Given the description of an element on the screen output the (x, y) to click on. 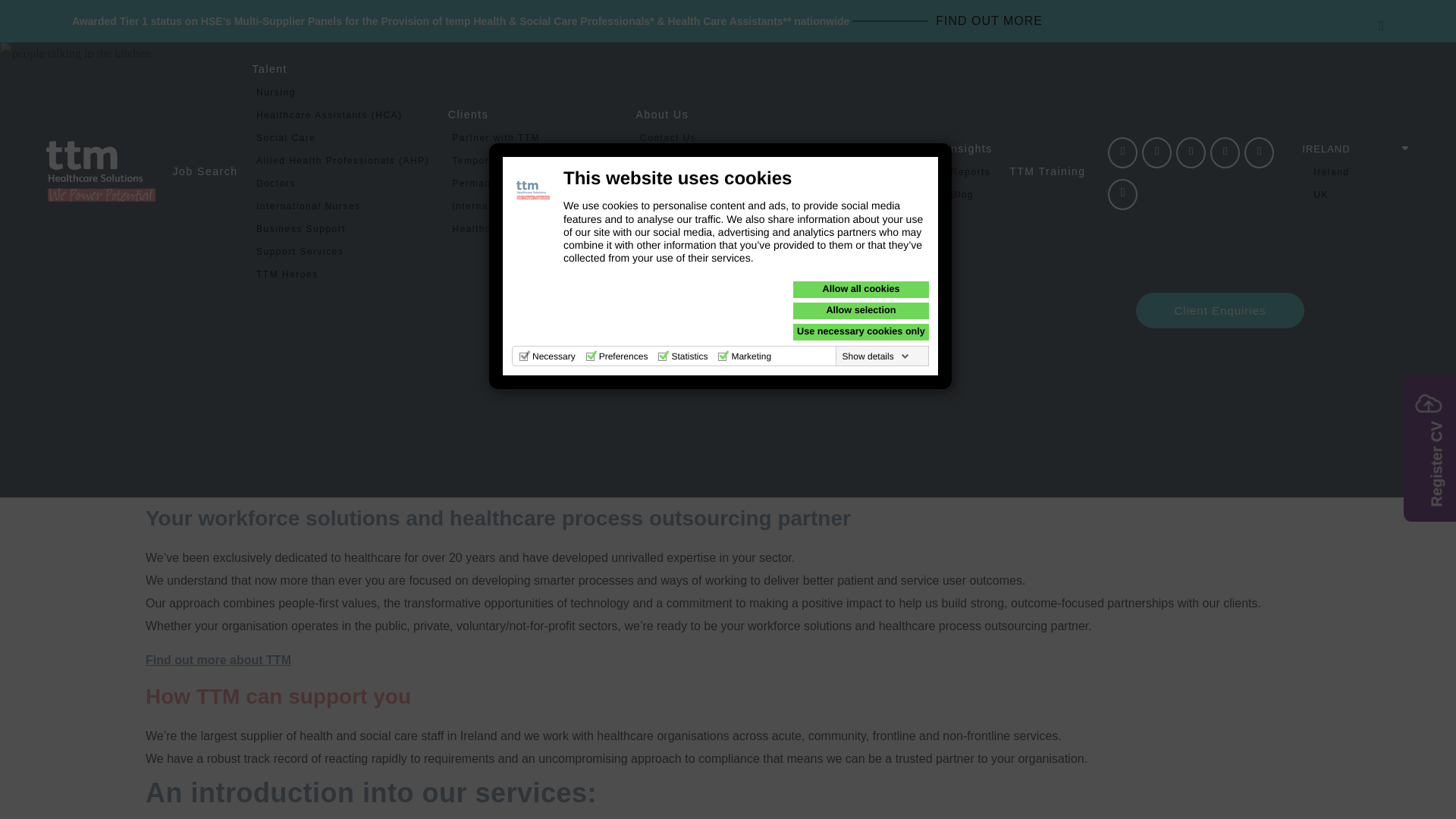
Show details (876, 356)
Allow all cookies (860, 289)
Use necessary cookies only (860, 331)
Allow selection (860, 310)
